Given the description of an element on the screen output the (x, y) to click on. 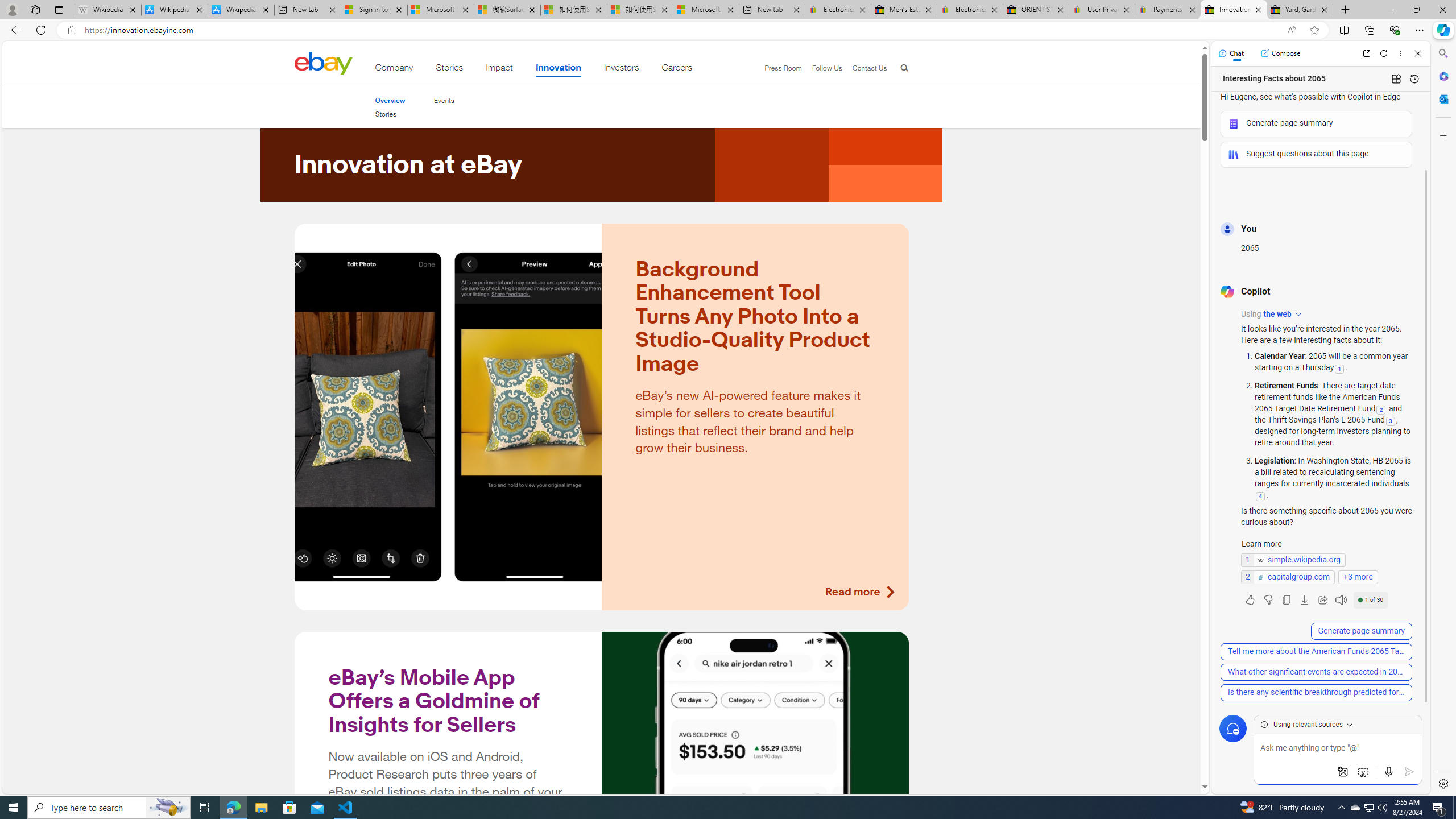
Events (443, 100)
Follow Us (826, 67)
Careers (677, 69)
Press Room (783, 67)
Press Room (778, 68)
